Given the description of an element on the screen output the (x, y) to click on. 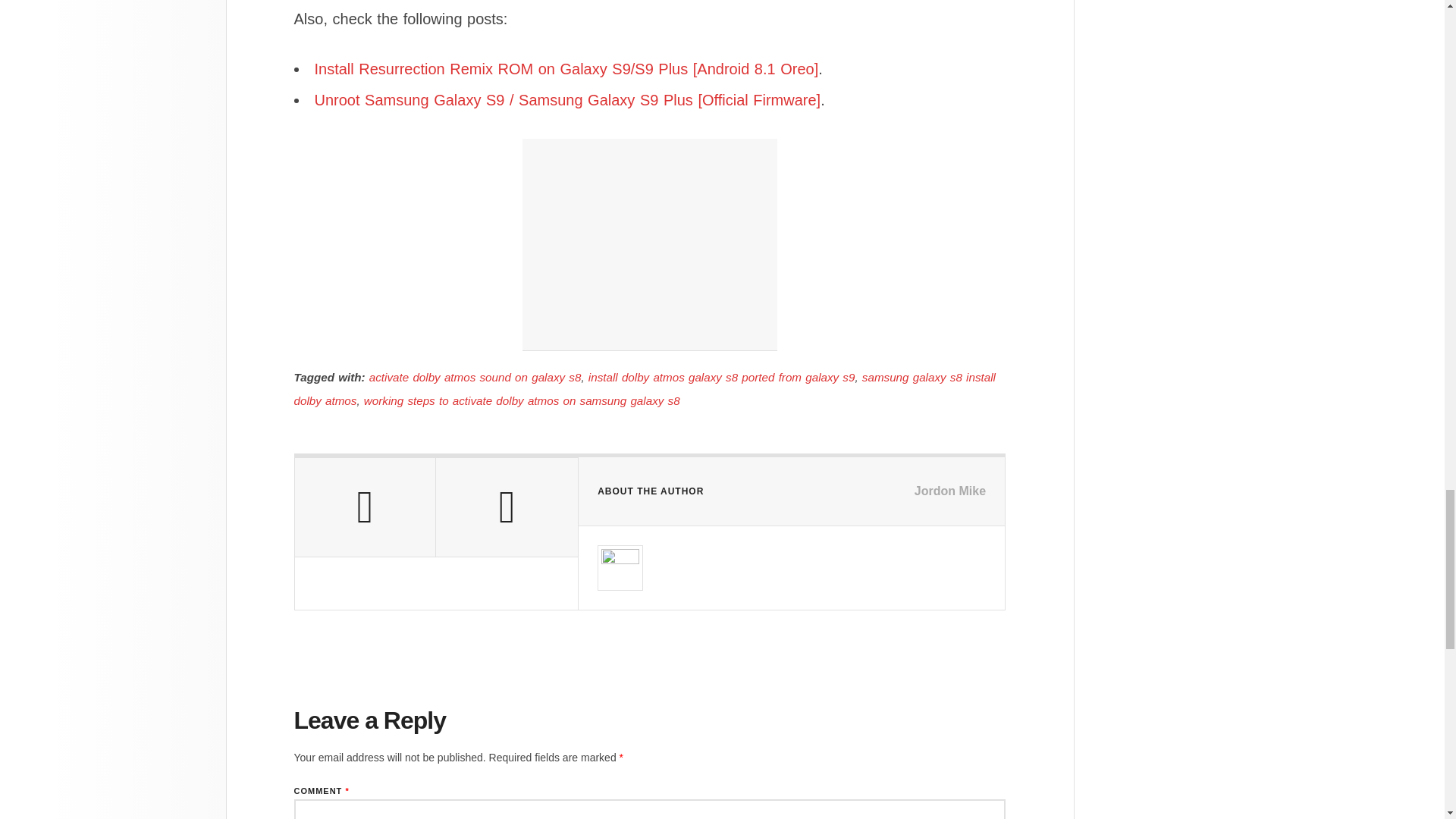
install dolby atmos galaxy s8 ported from galaxy s9 (722, 377)
Next Post (506, 506)
Previous Post (364, 506)
activate dolby atmos sound on galaxy s8 (474, 377)
